Given the description of an element on the screen output the (x, y) to click on. 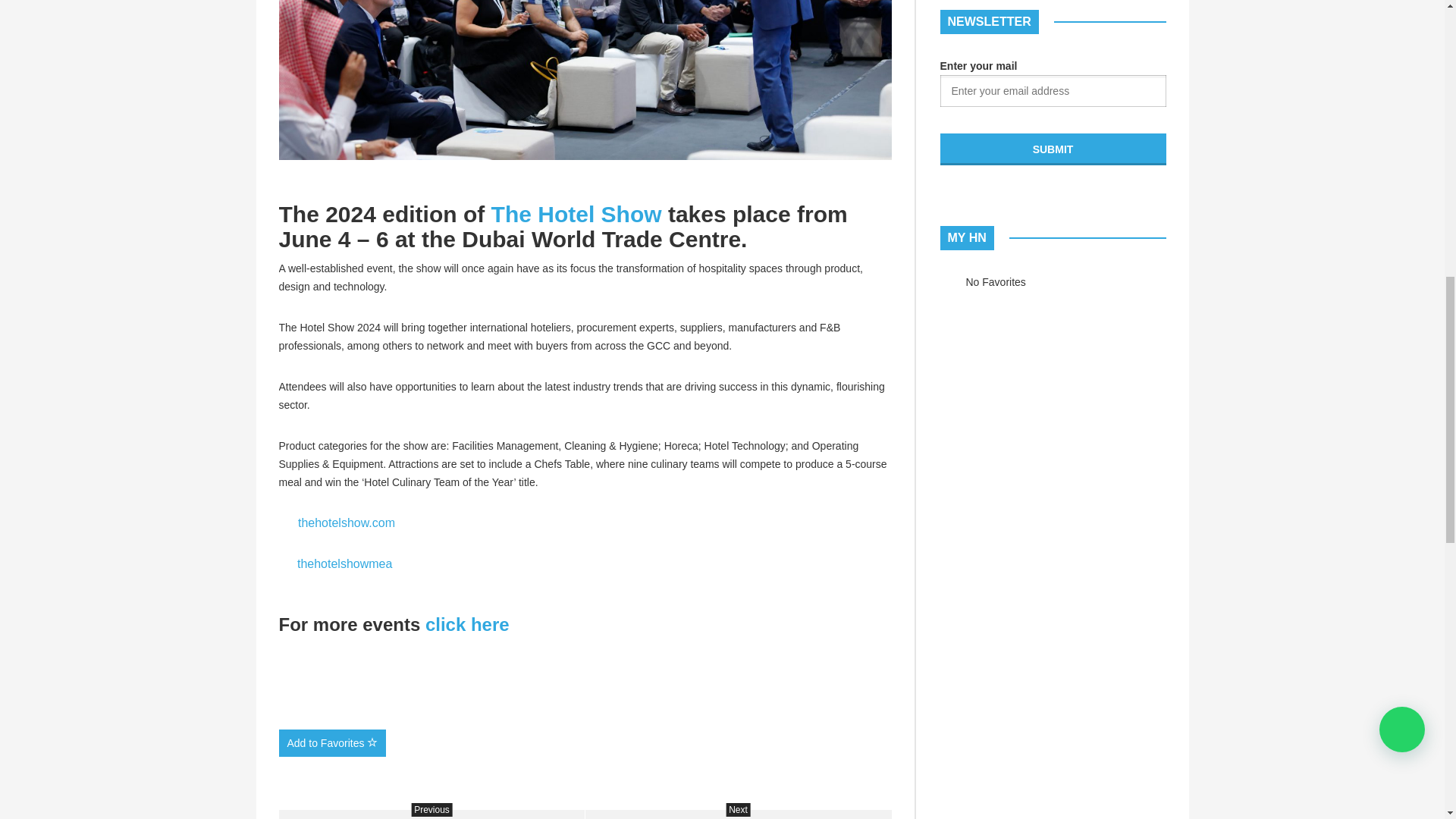
Submit (1053, 149)
